Given the description of an element on the screen output the (x, y) to click on. 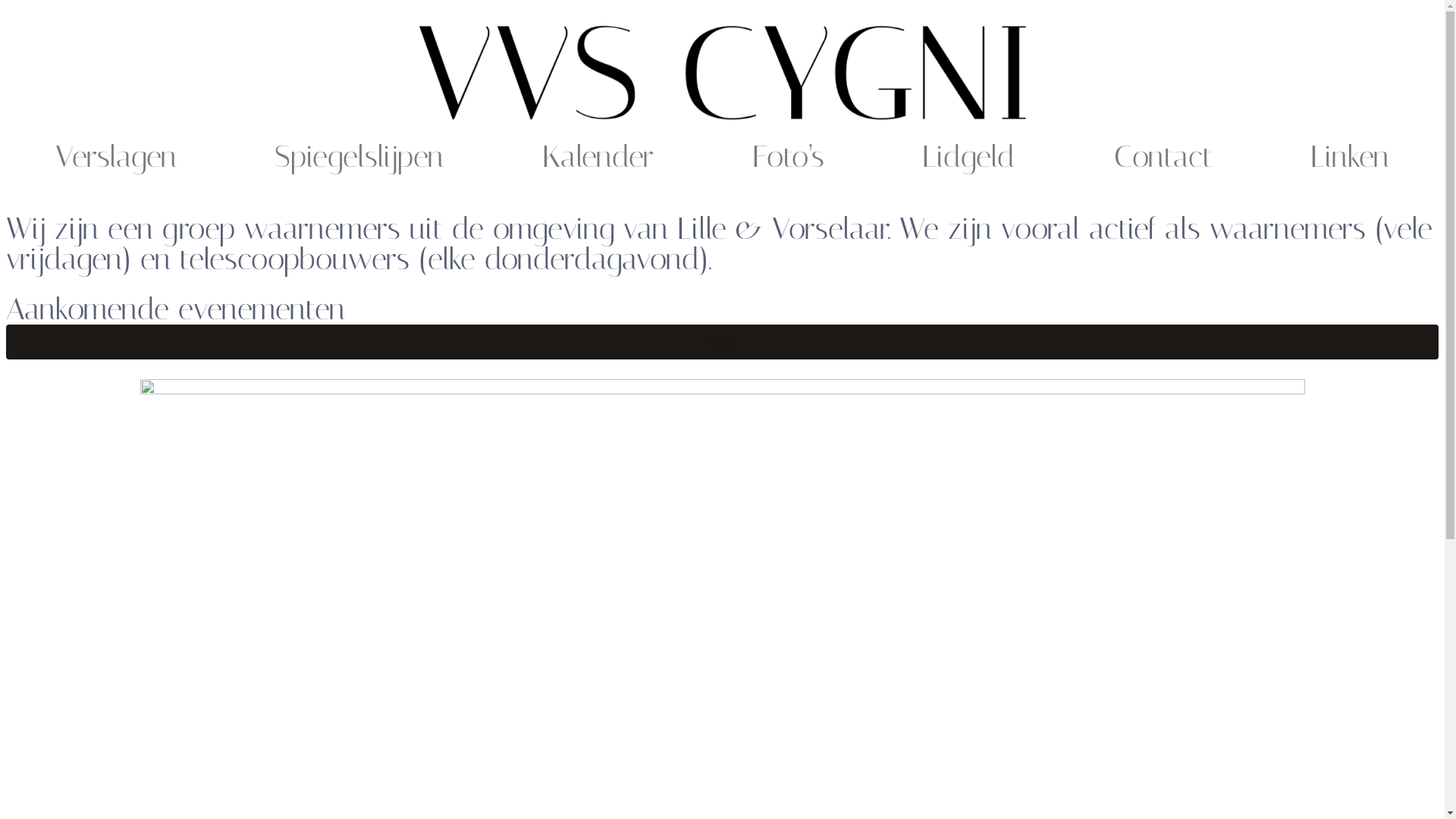
Spiegelslijpen Element type: text (359, 156)
Linken Element type: text (1349, 156)
Meer Element type: text (722, 341)
Kalender Element type: text (597, 156)
Contact Element type: text (1162, 156)
Verslagen Element type: text (115, 156)
Lidgeld Element type: text (968, 156)
